Given the description of an element on the screen output the (x, y) to click on. 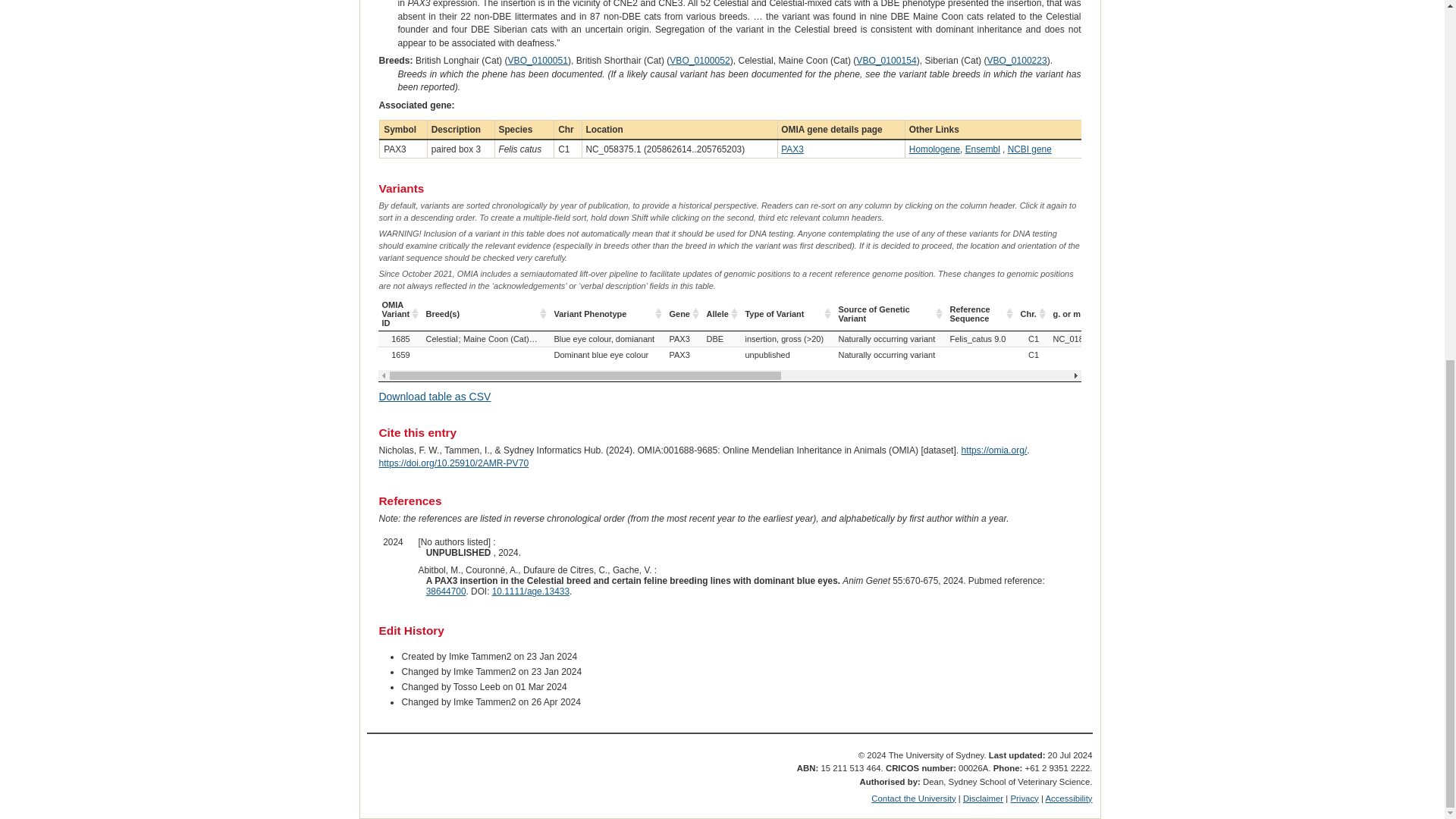
NCBI gene (1029, 149)
Homologene (933, 149)
Ensembl (982, 149)
PAX3 (791, 149)
